Given the description of an element on the screen output the (x, y) to click on. 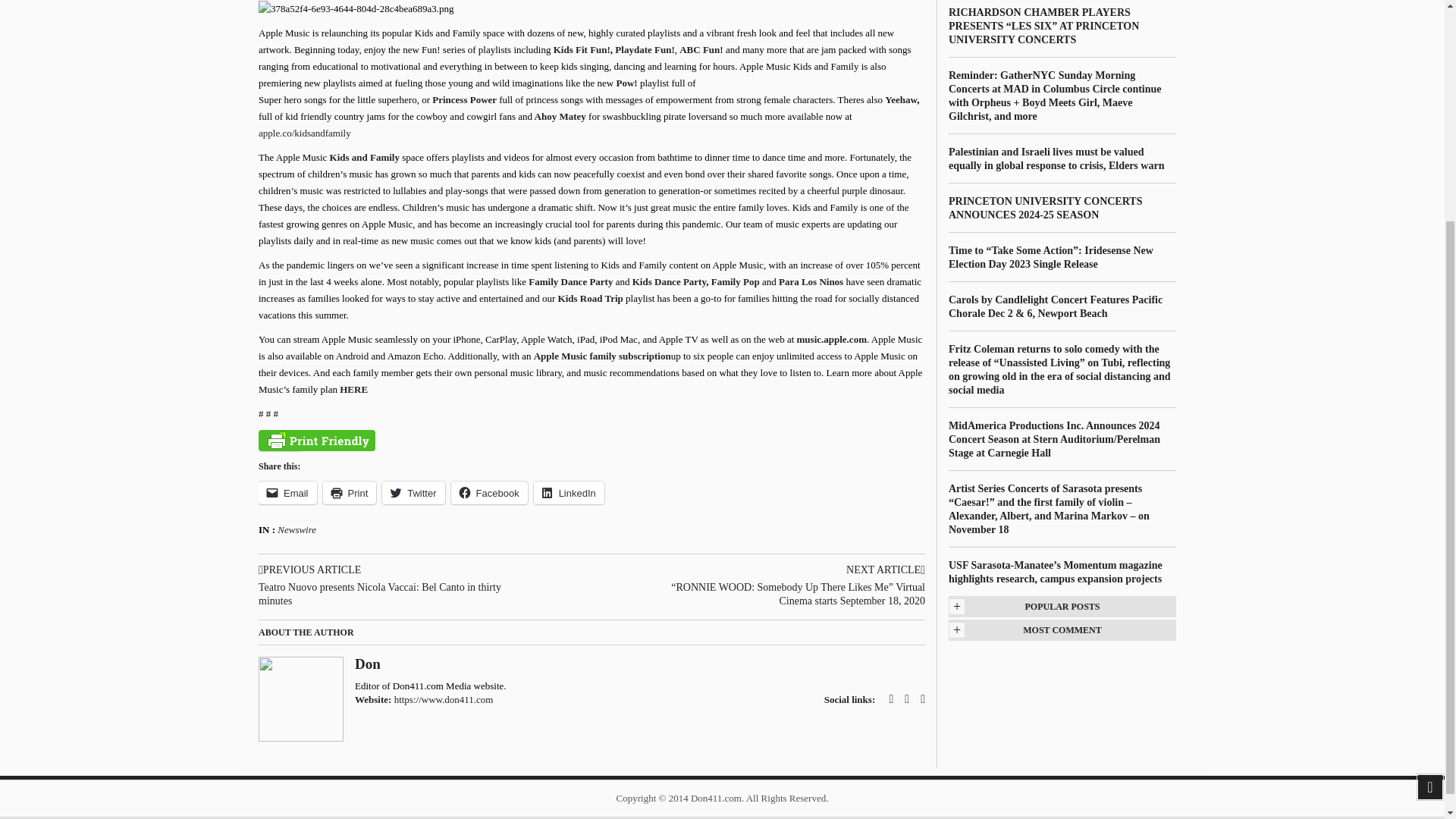
Click to share on LinkedIn (569, 492)
Kids Fit Fun! (581, 49)
Click to share on Twitter (412, 492)
Click to print (350, 492)
Pow! (627, 82)
Playdate Fun! (644, 49)
Click to share on Facebook (489, 492)
Princess Power (464, 99)
Family Dance Party (570, 281)
Kids Road Trip (590, 297)
Ahoy Matey (560, 116)
Yeehaw (901, 99)
Family Pop (735, 281)
Kids Dance Party (668, 281)
ABC Fun! (700, 49)
